Given the description of an element on the screen output the (x, y) to click on. 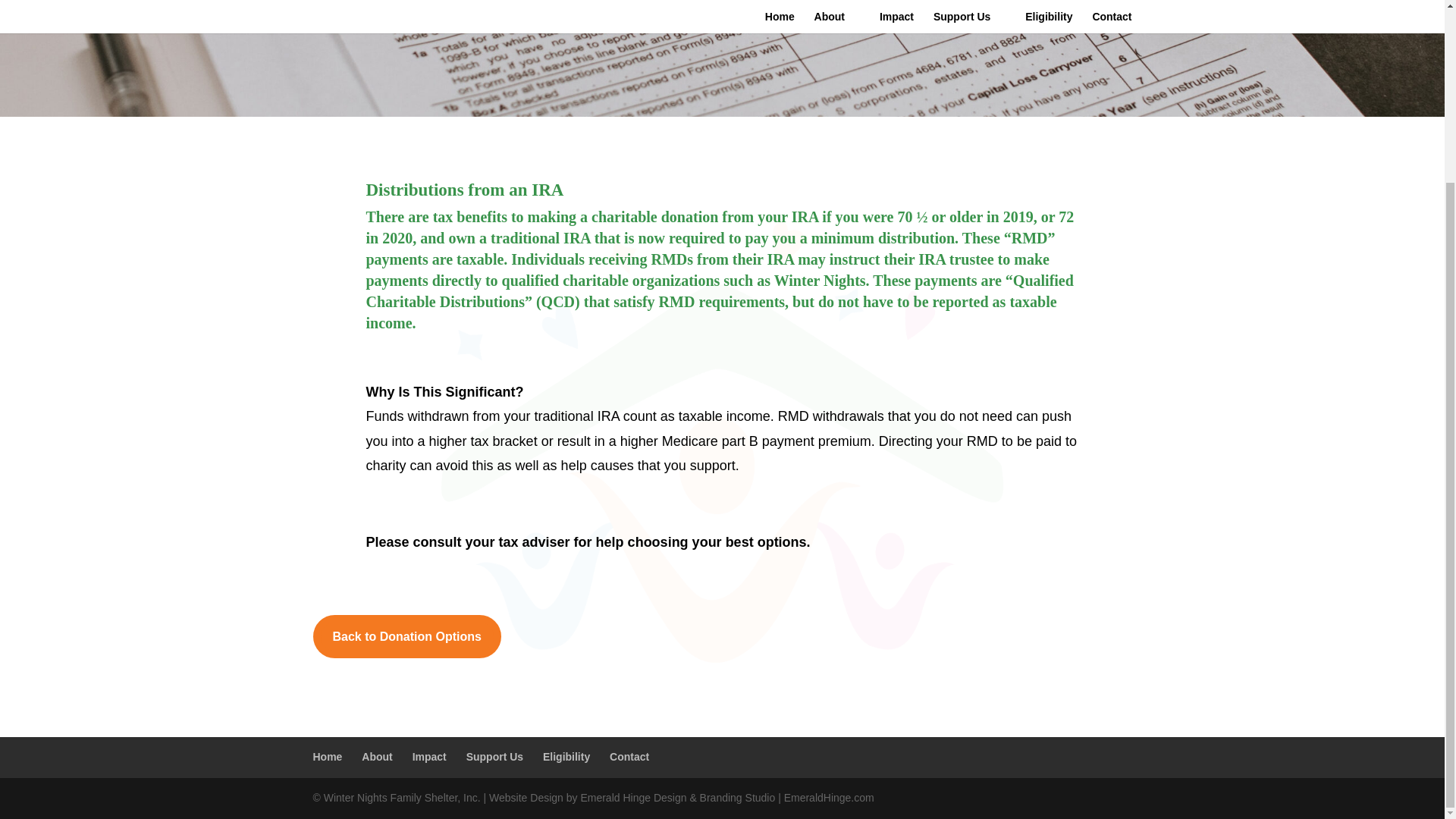
Eligibility (566, 756)
About (376, 756)
Contact (629, 756)
Back to Donation Options (406, 636)
Home (327, 756)
Impact (429, 756)
Support Us (493, 756)
